Given the description of an element on the screen output the (x, y) to click on. 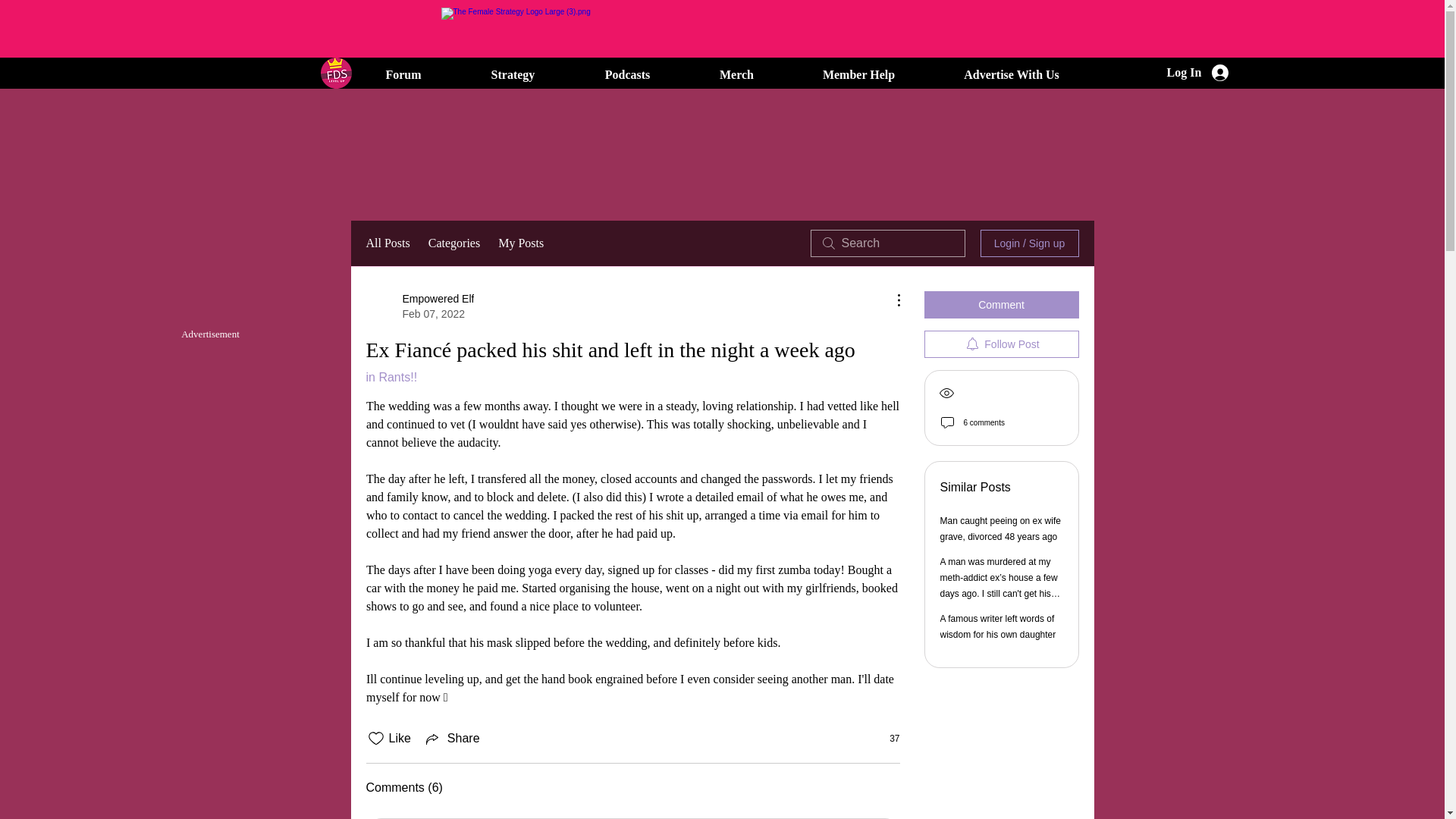
Merch (737, 74)
in Rants!! (390, 377)
37 (885, 738)
Share (451, 738)
Member Help (859, 74)
Categories (454, 243)
Log In (419, 306)
All Posts (1197, 72)
Strategy (387, 243)
